Given the description of an element on the screen output the (x, y) to click on. 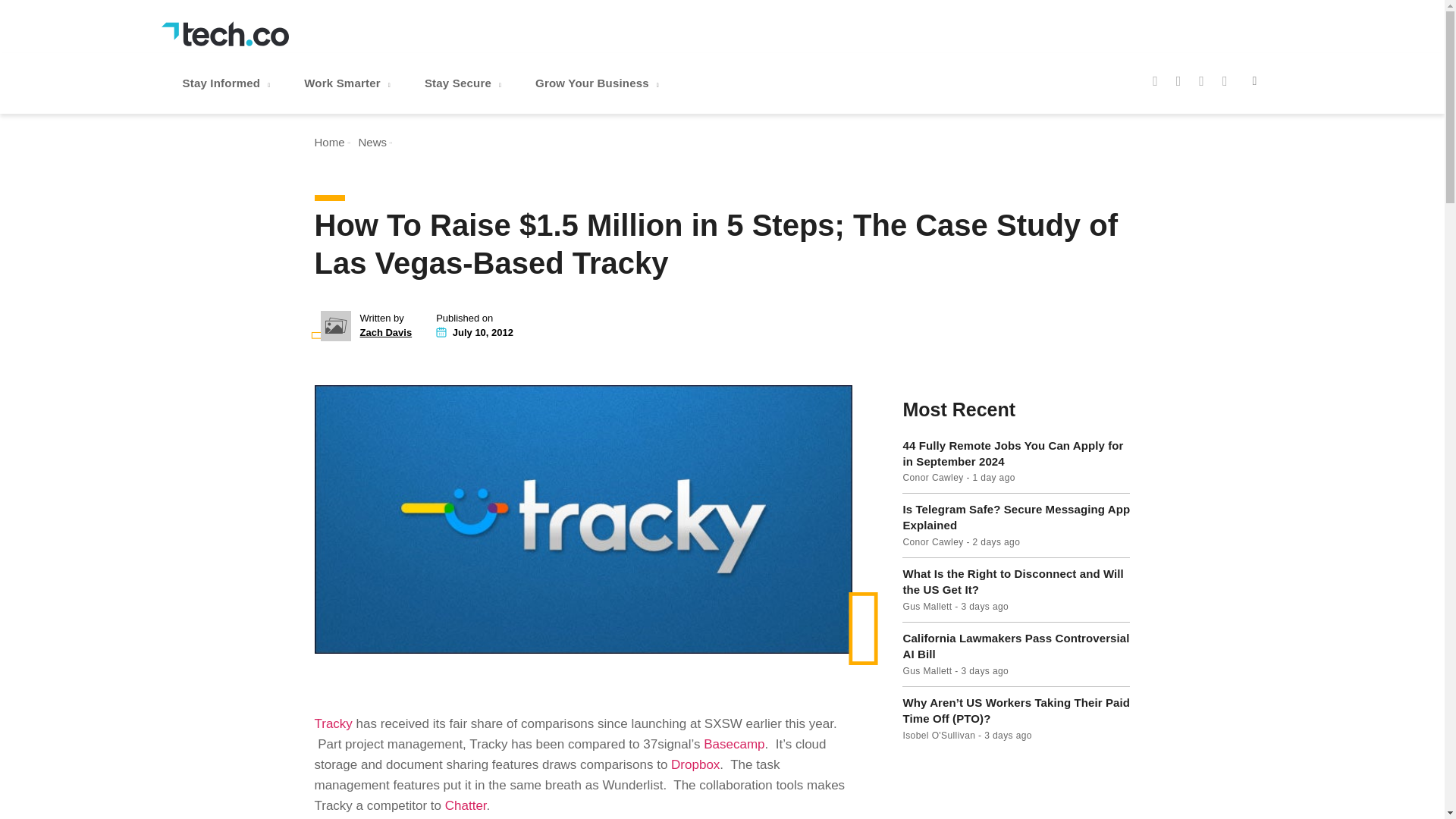
Stay Informed (227, 83)
Work Smarter (348, 83)
Stay Secure (464, 83)
Grow Your Business (598, 83)
